Given the description of an element on the screen output the (x, y) to click on. 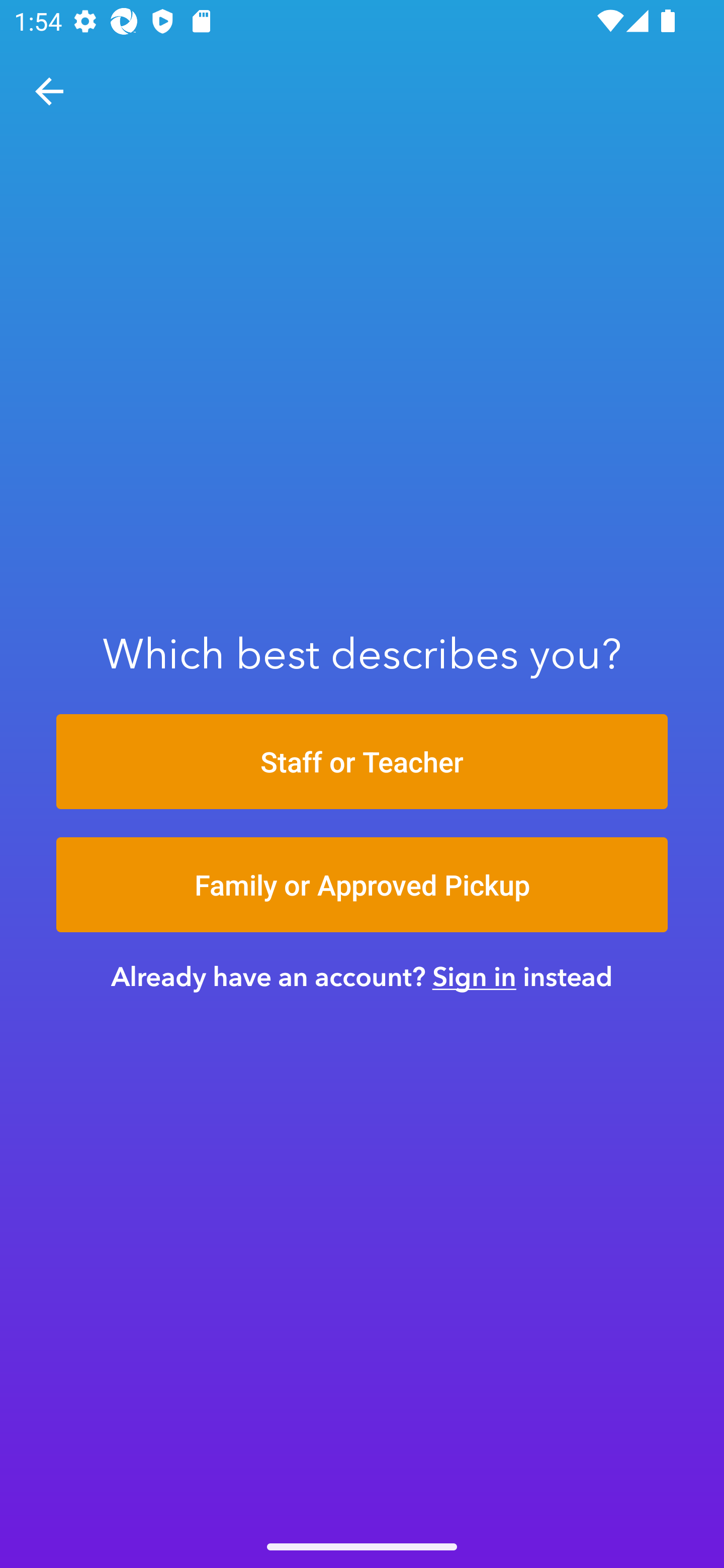
Navigate up (49, 91)
Staff or Teacher (361, 761)
Family or Approved Pickup (361, 884)
Already have an account? Sign in instead (361, 975)
